Given the description of an element on the screen output the (x, y) to click on. 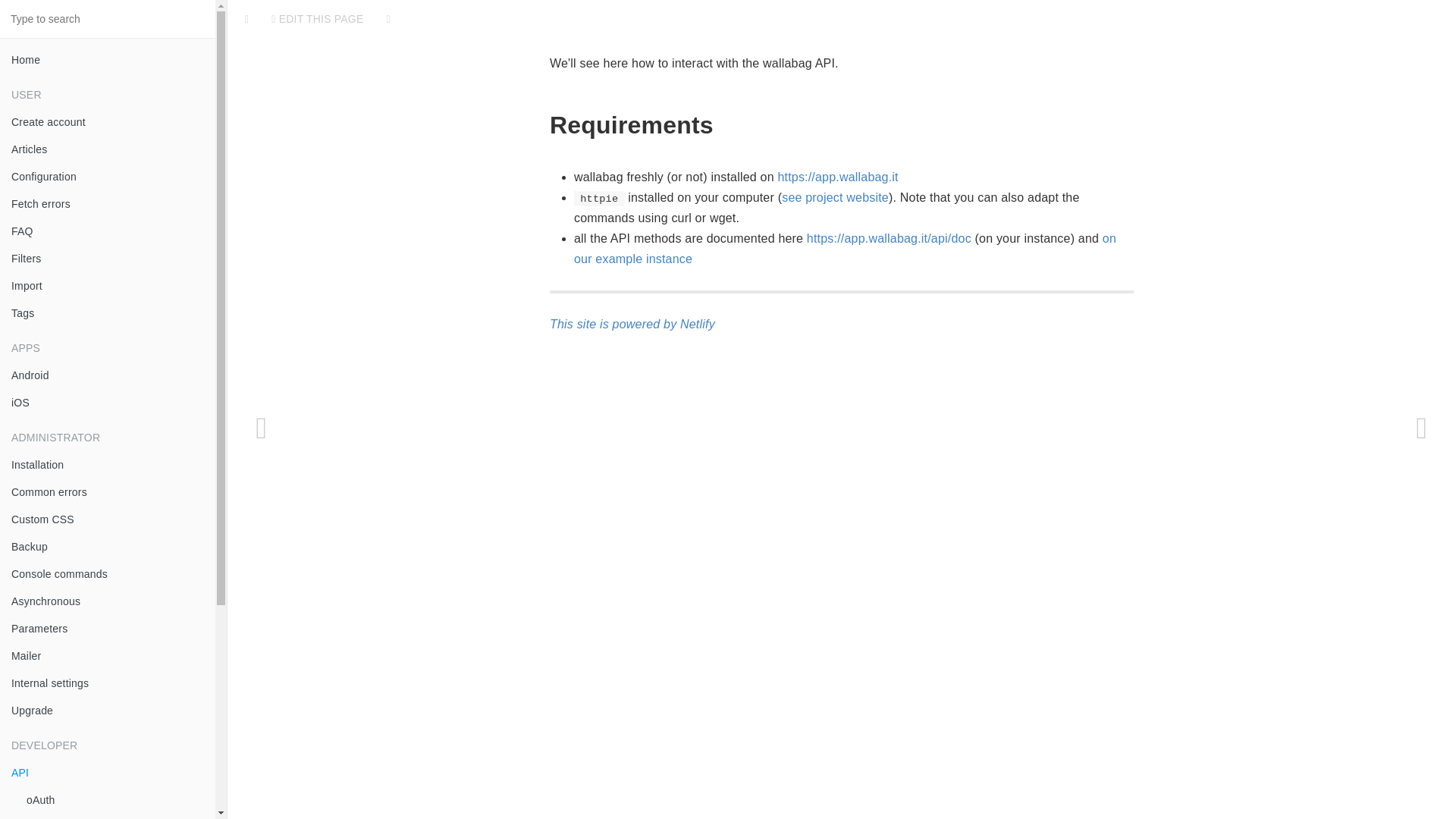
Fetch errors (107, 203)
iOS (107, 402)
FAQ (107, 230)
Custom CSS (107, 519)
Articles (107, 148)
Mailer (107, 655)
Tags (107, 312)
Internal settings (107, 682)
Backup (107, 546)
Import (107, 285)
Configuration (107, 176)
Parameters (107, 628)
Filters (107, 257)
Asynchronous (107, 601)
Installation (107, 464)
